Given the description of an element on the screen output the (x, y) to click on. 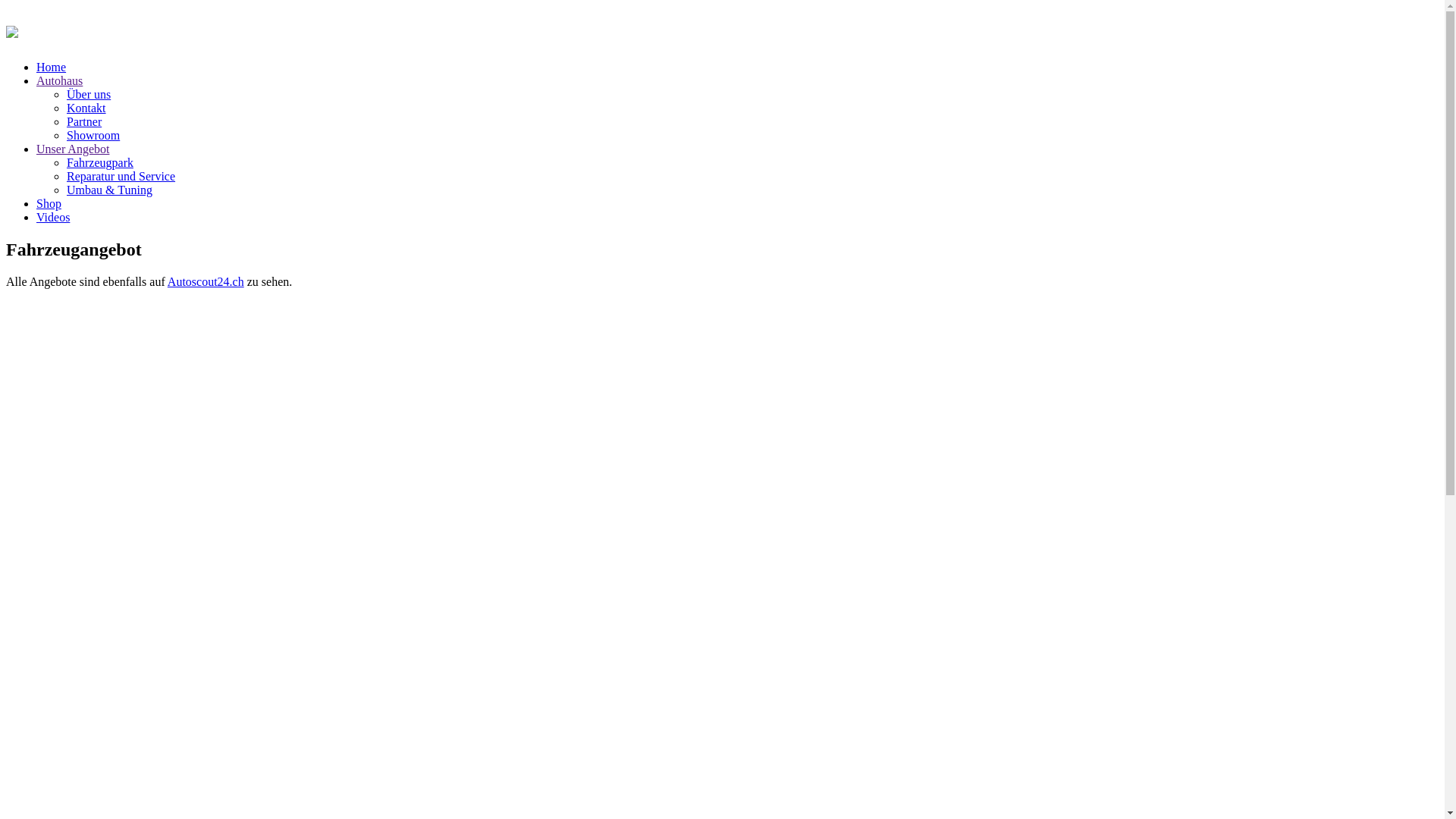
Autoscout24.ch Element type: text (205, 281)
Reparatur und Service Element type: text (120, 175)
Home Element type: text (50, 66)
Unser Angebot Element type: text (72, 148)
Partner Element type: text (83, 121)
Kontakt Element type: text (86, 107)
Autohaus Element type: text (59, 80)
Umbau & Tuning Element type: text (109, 189)
Fahrzeugpark Element type: text (99, 162)
Videos Element type: text (52, 216)
Shop Element type: text (48, 203)
Showroom Element type: text (92, 134)
